Given the description of an element on the screen output the (x, y) to click on. 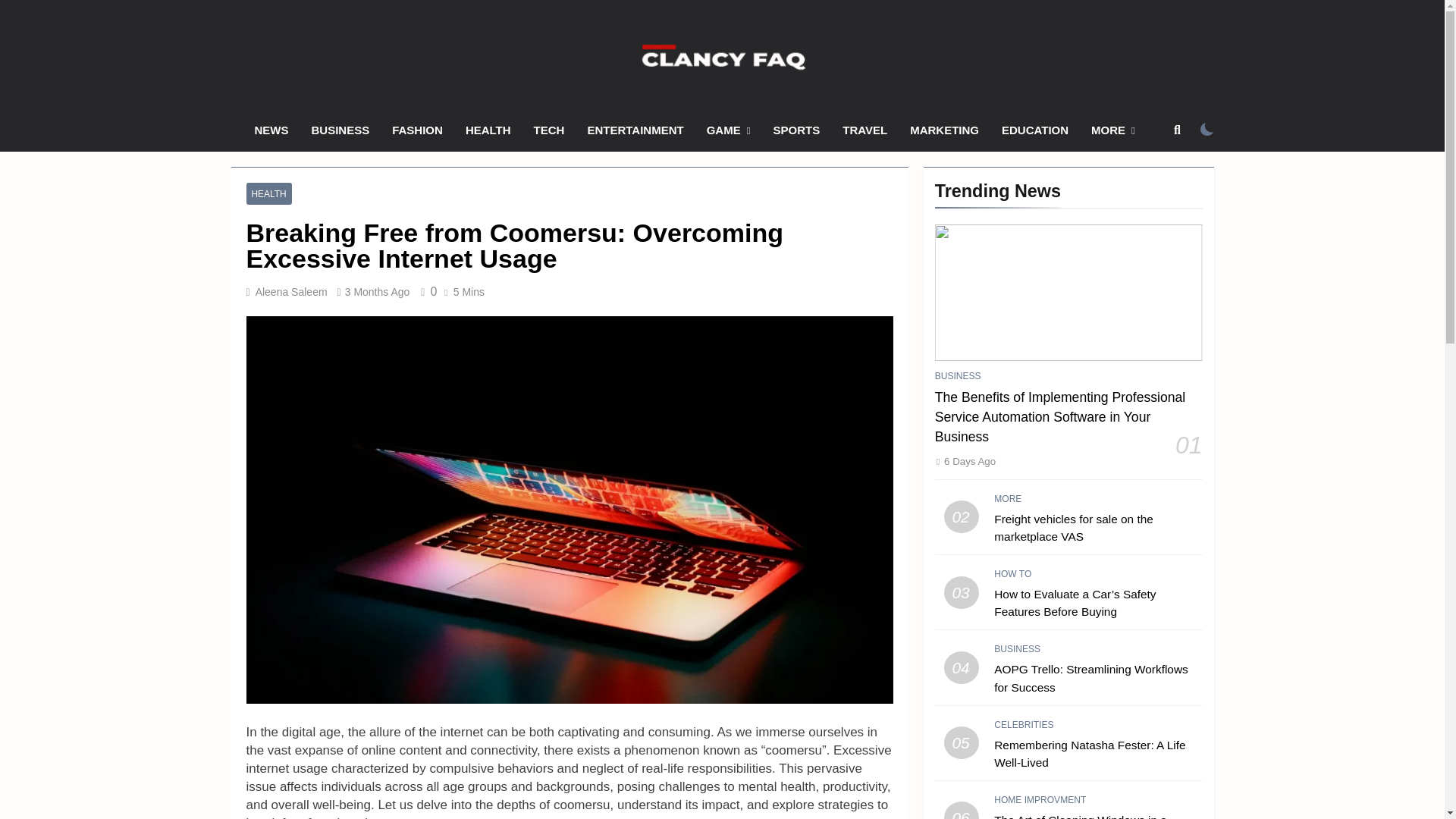
ENTERTAINMENT (634, 129)
GAME (728, 130)
TECH (549, 129)
Clancy FAQ (570, 95)
0 (425, 291)
MARKETING (944, 129)
EDUCATION (1035, 129)
Aleena Saleem (291, 291)
FASHION (417, 129)
SPORTS (796, 129)
